Given the description of an element on the screen output the (x, y) to click on. 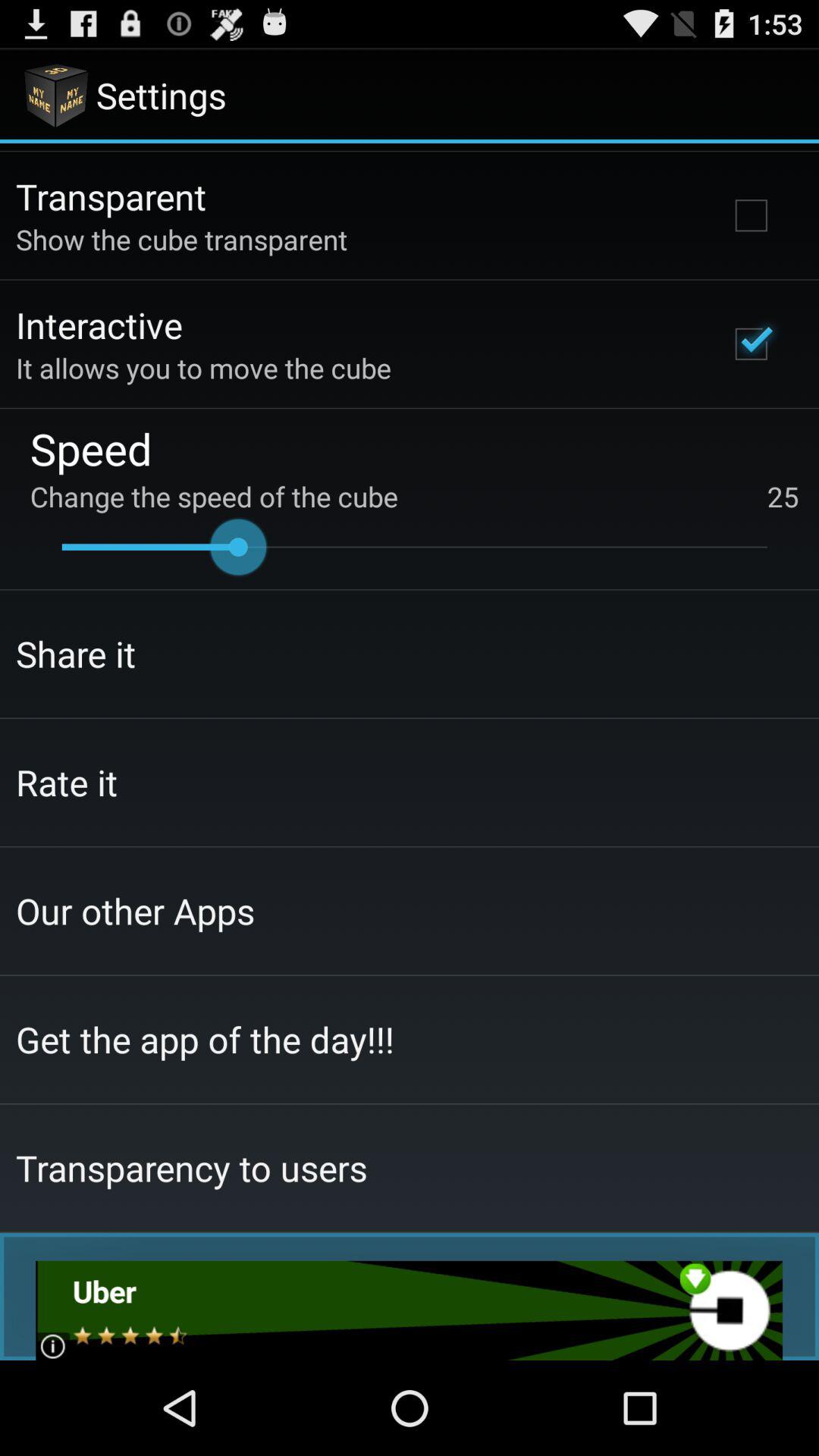
go to uber app information (408, 1310)
